Given the description of an element on the screen output the (x, y) to click on. 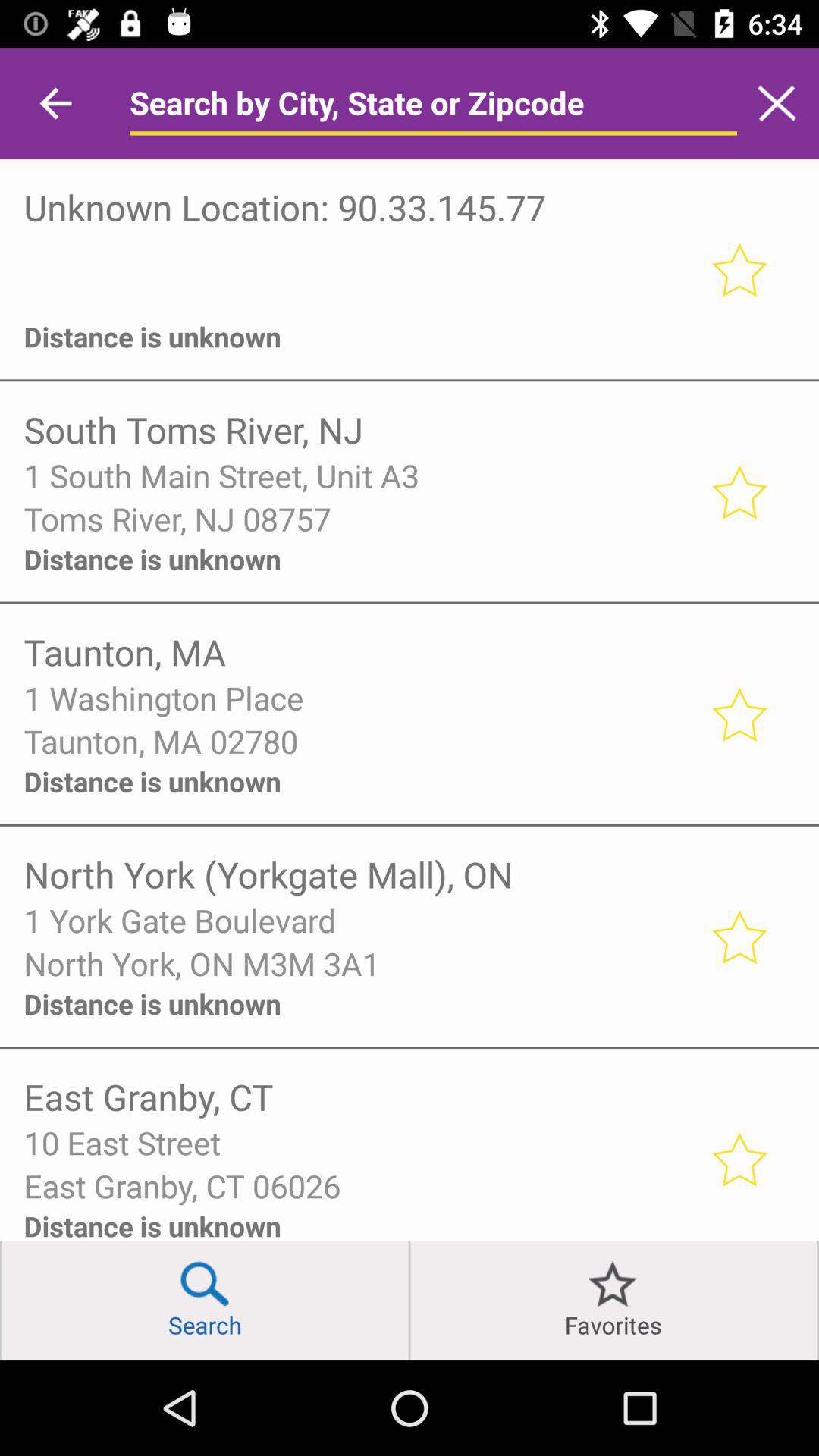
tap the   icon (356, 295)
